Given the description of an element on the screen output the (x, y) to click on. 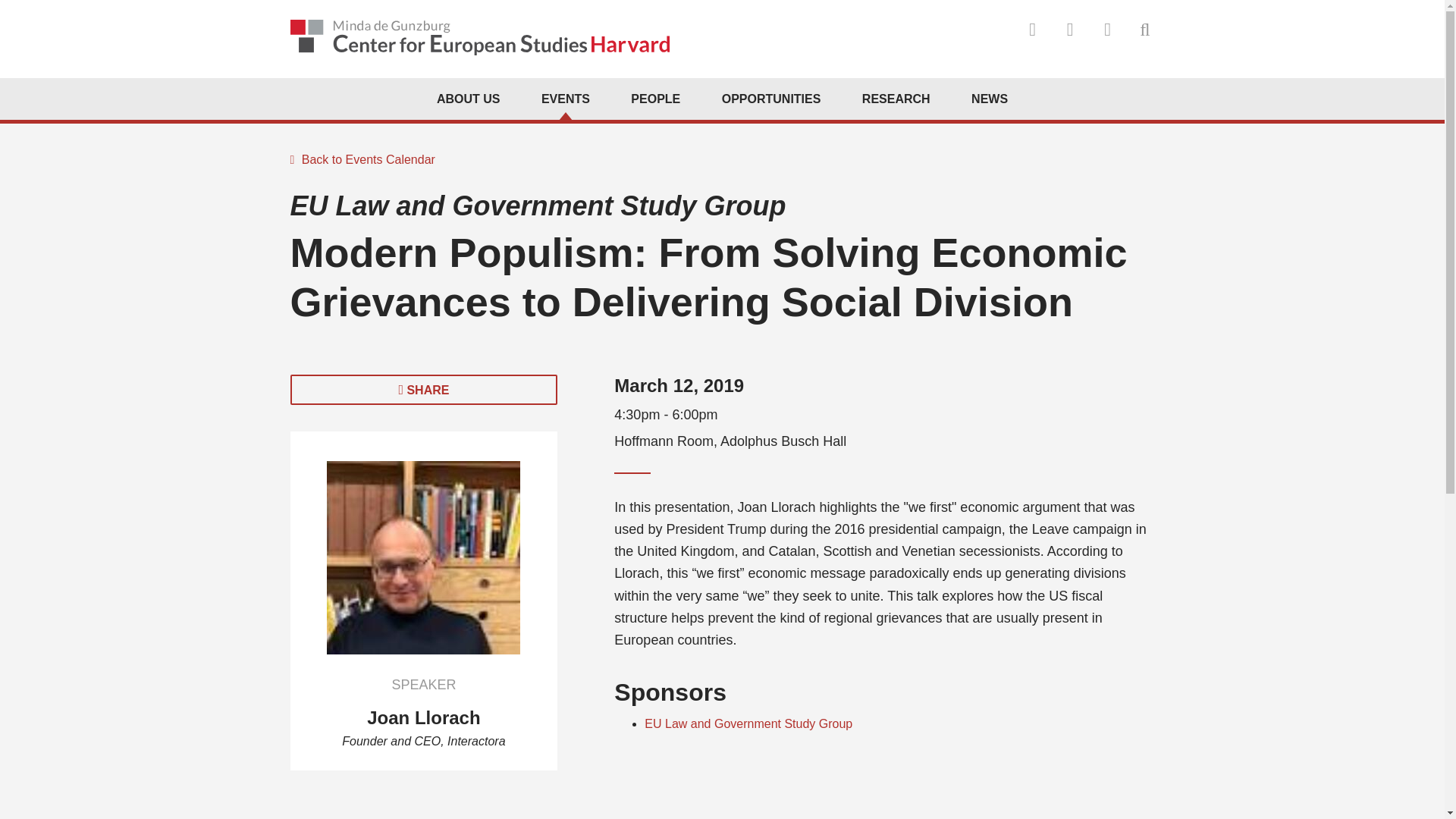
ABOUT US (468, 98)
EVENTS (565, 98)
PEOPLE (654, 98)
